Given the description of an element on the screen output the (x, y) to click on. 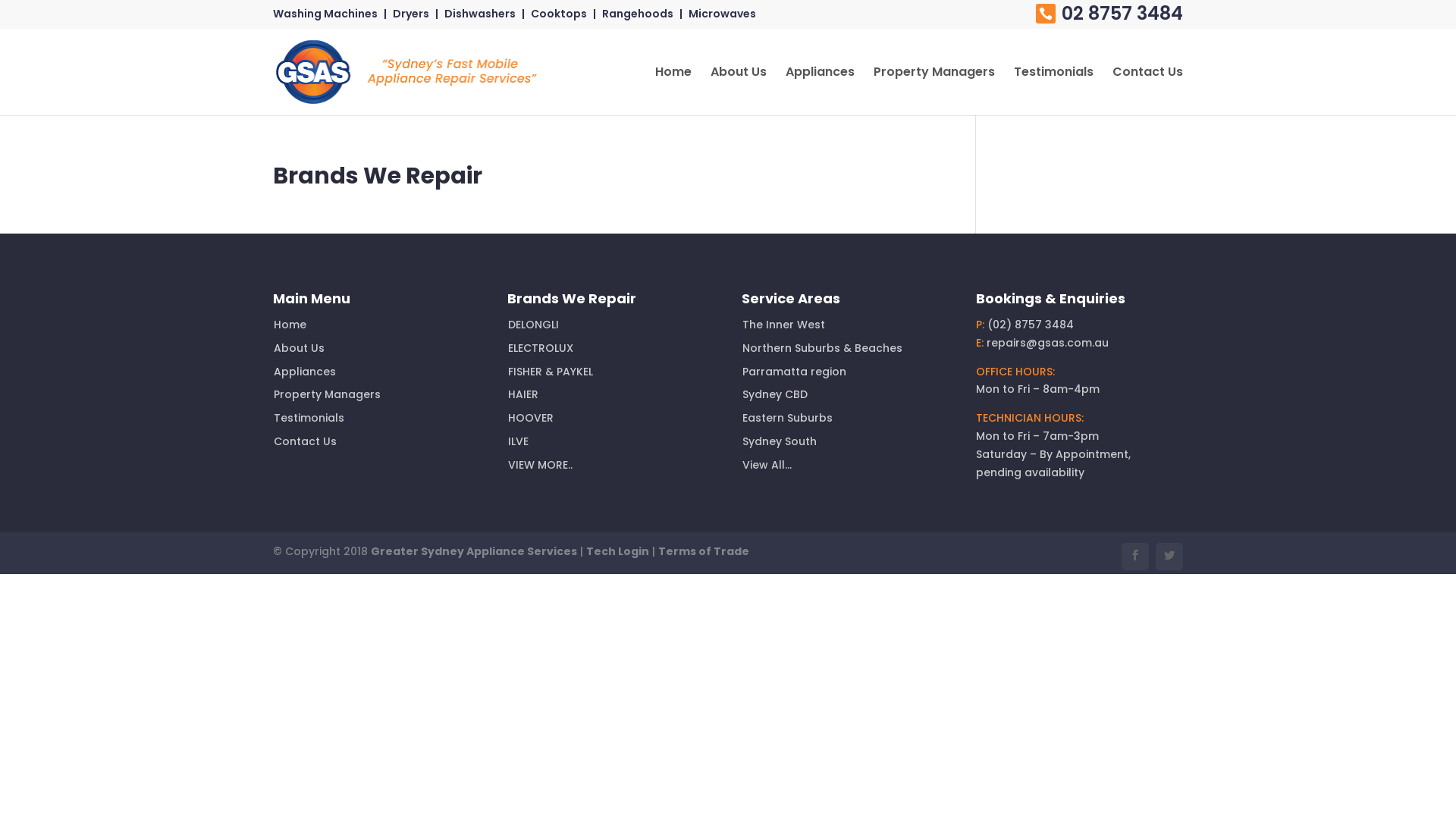
Tech Login Element type: text (617, 550)
About Us Element type: text (298, 347)
Home Element type: text (673, 90)
Appliances Element type: text (304, 371)
02 8757 3484 Element type: text (1109, 14)
Terms of Trade Element type: text (703, 550)
Appliances Element type: text (819, 90)
repairs@gsas.com.au Element type: text (1047, 342)
Greater Sydney Appliance Services Element type: text (473, 550)
Property Managers Element type: text (326, 393)
(02) 8757 3484 Element type: text (1030, 324)
About Us Element type: text (738, 90)
Contact Us Element type: text (1147, 90)
Home Element type: text (289, 324)
VIEW MORE.. Element type: text (540, 464)
Property Managers Element type: text (933, 90)
Testimonials Element type: text (1053, 90)
Testimonials Element type: text (308, 417)
Contact Us Element type: text (304, 440)
